Given the description of an element on the screen output the (x, y) to click on. 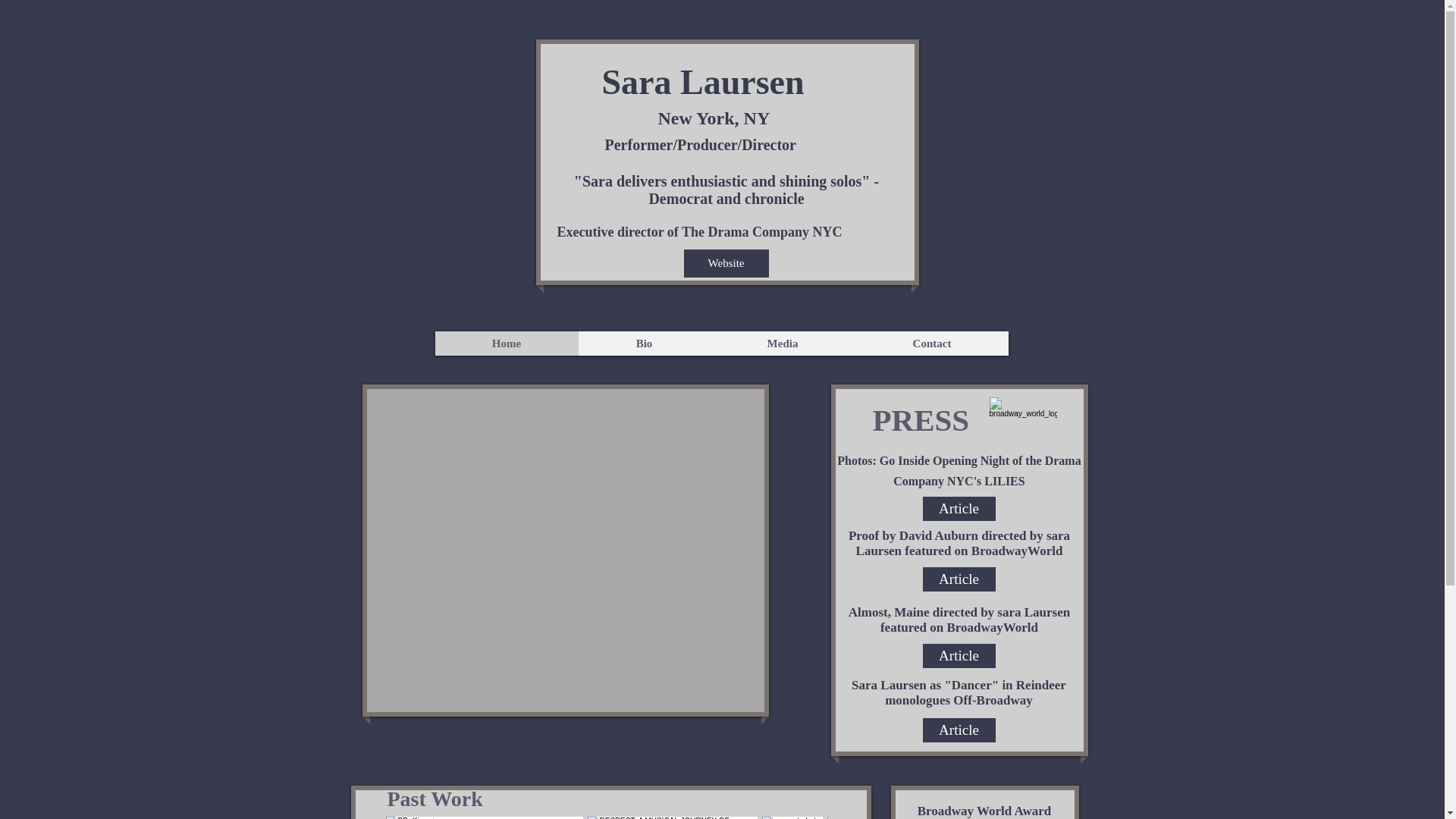
Article (957, 730)
Article (957, 579)
Home (506, 343)
Article (957, 508)
Media (783, 343)
Article (957, 655)
Website (726, 263)
Bio (643, 343)
Contact (932, 343)
